Given the description of an element on the screen output the (x, y) to click on. 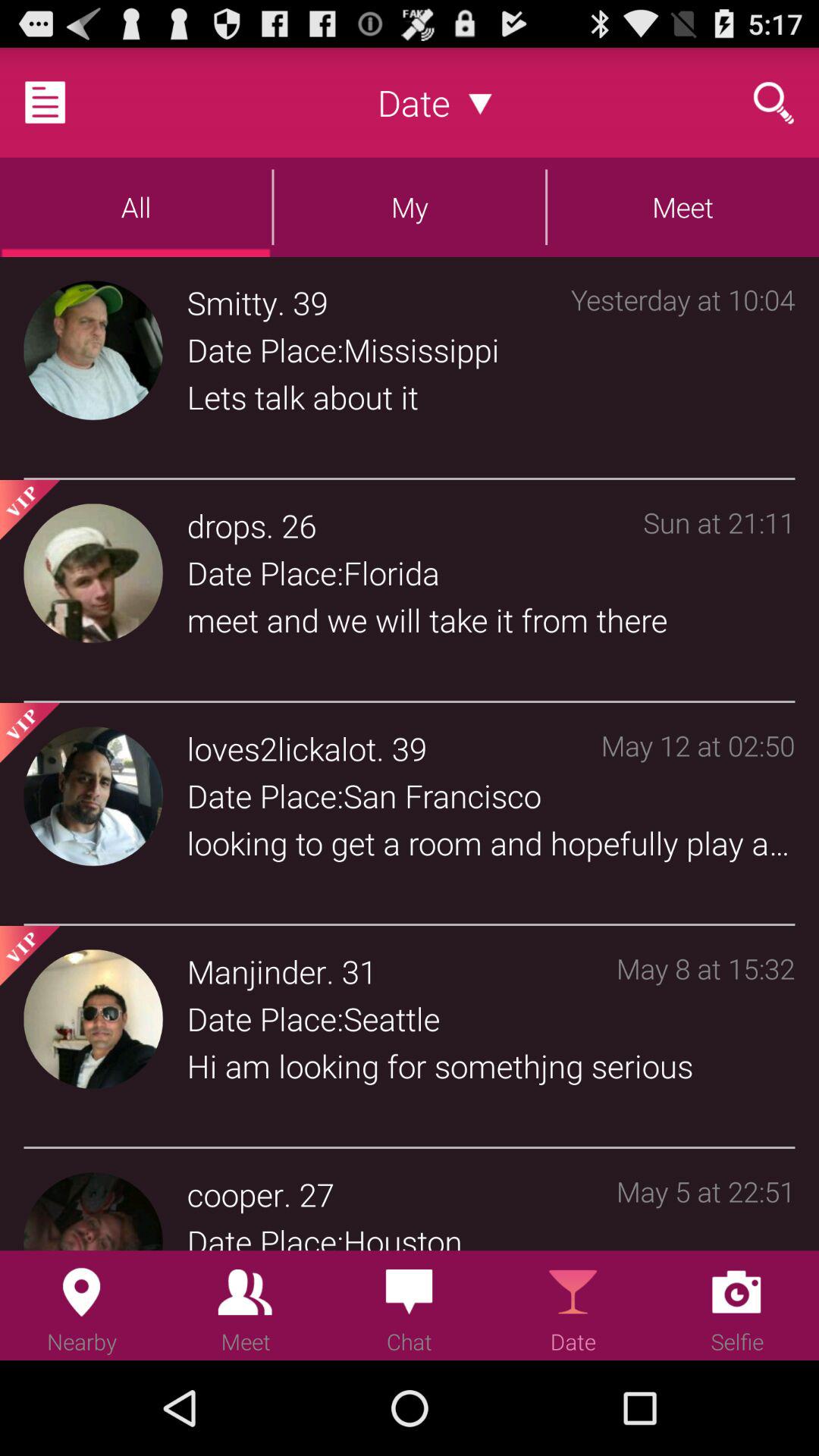
sort by date (480, 102)
